Given the description of an element on the screen output the (x, y) to click on. 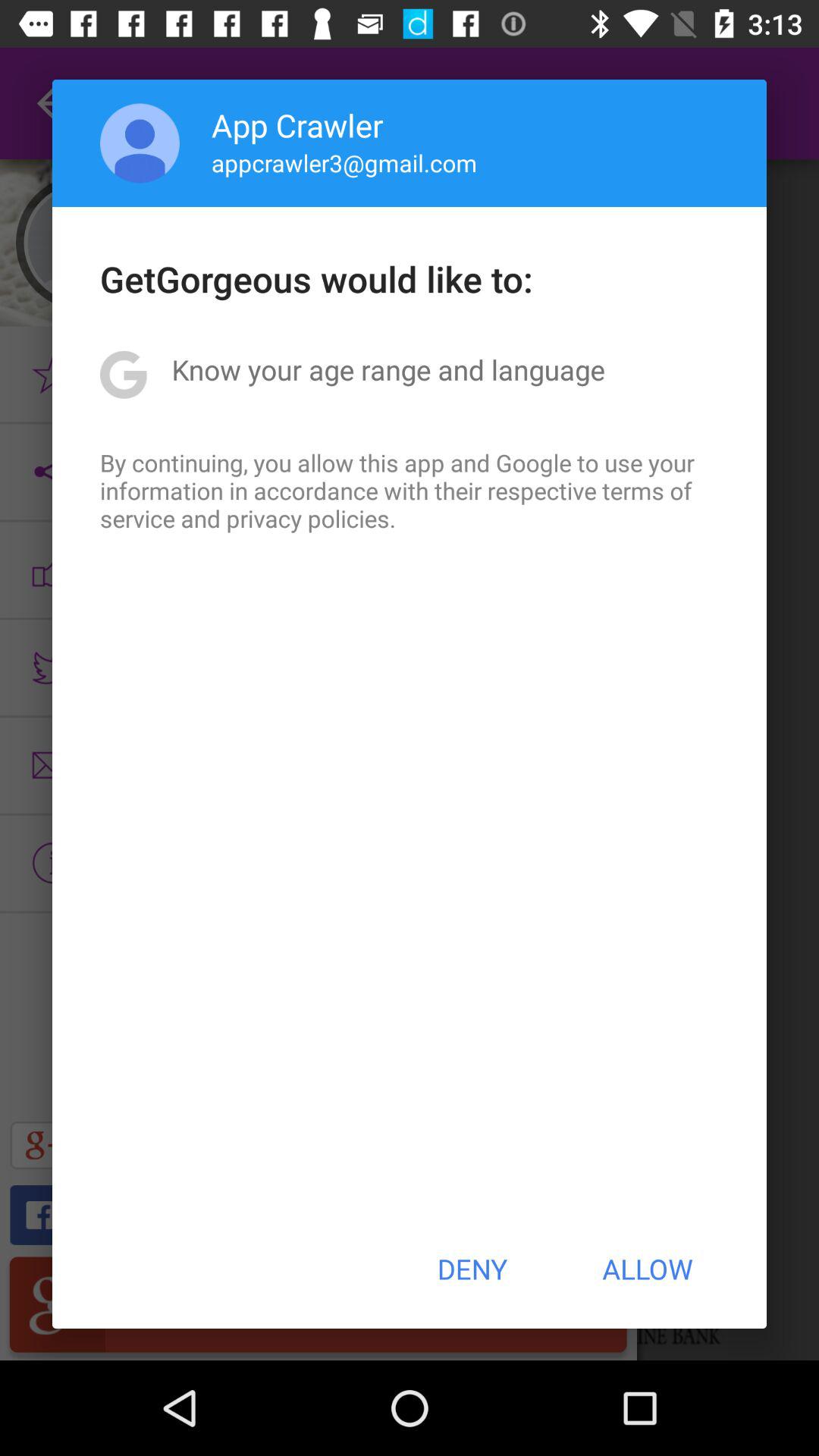
click the item above by continuing you app (388, 369)
